Given the description of an element on the screen output the (x, y) to click on. 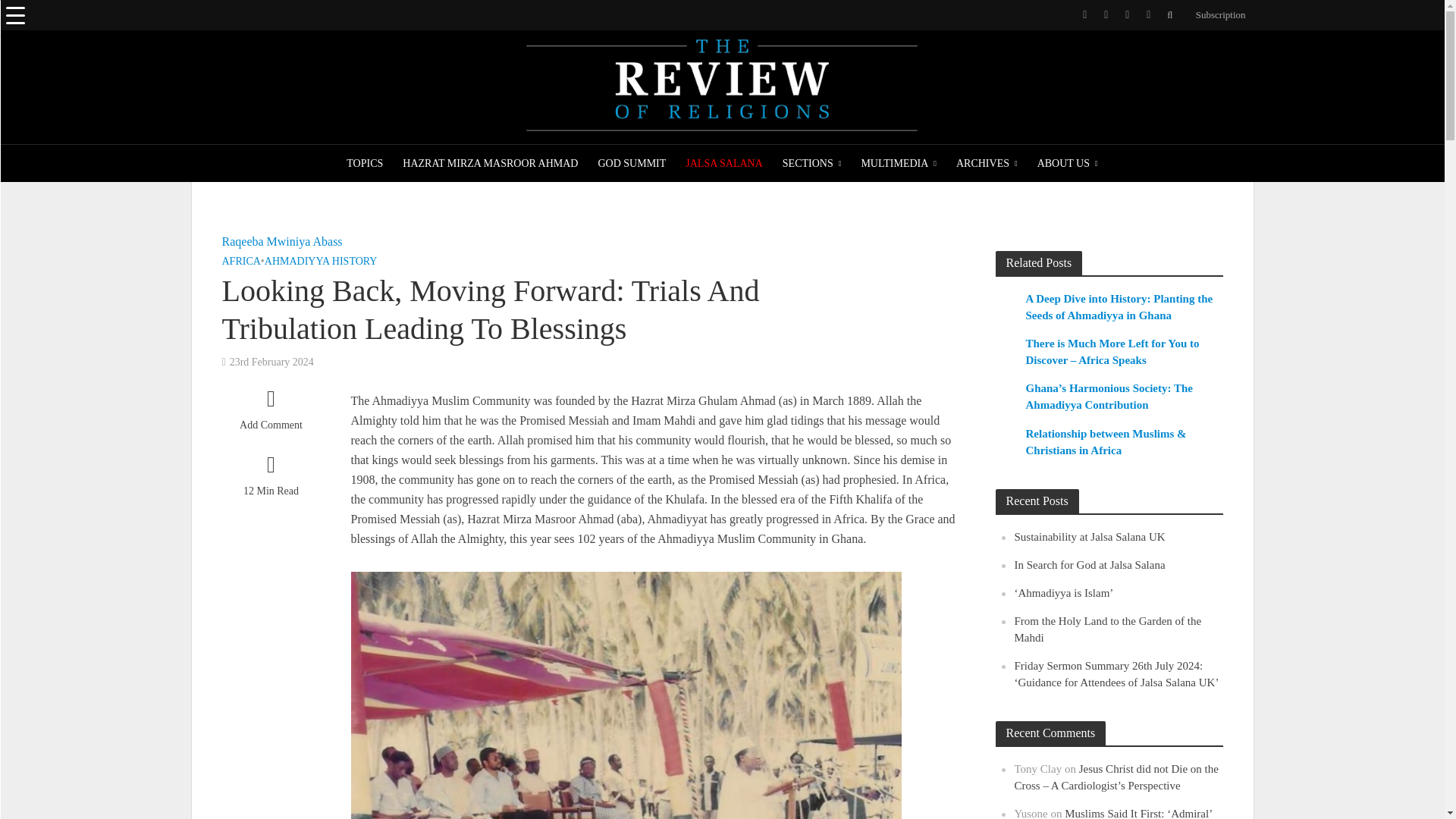
JALSA SALANA (724, 163)
SECTIONS (812, 163)
Search (26, 18)
ARCHIVES (986, 163)
HAZRAT MIRZA MASROOR AHMAD (490, 163)
GOD SUMMIT (631, 163)
MULTIMEDIA (898, 163)
TOPICS (364, 163)
Subscription (1217, 15)
ABOUT US (1067, 163)
